Given the description of an element on the screen output the (x, y) to click on. 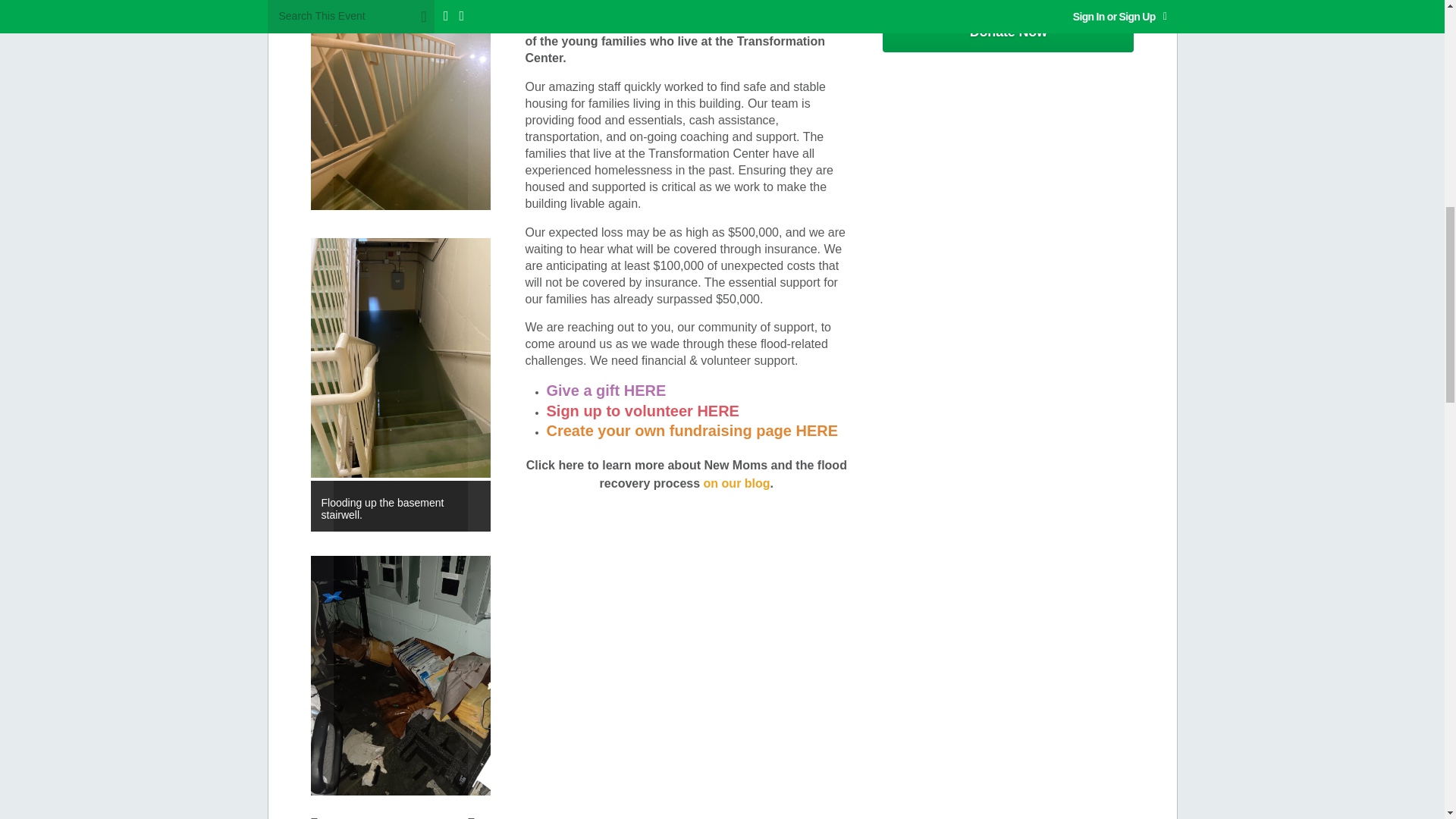
HERE (645, 390)
HERE (816, 430)
HERE (718, 410)
on our blog (736, 483)
